Given the description of an element on the screen output the (x, y) to click on. 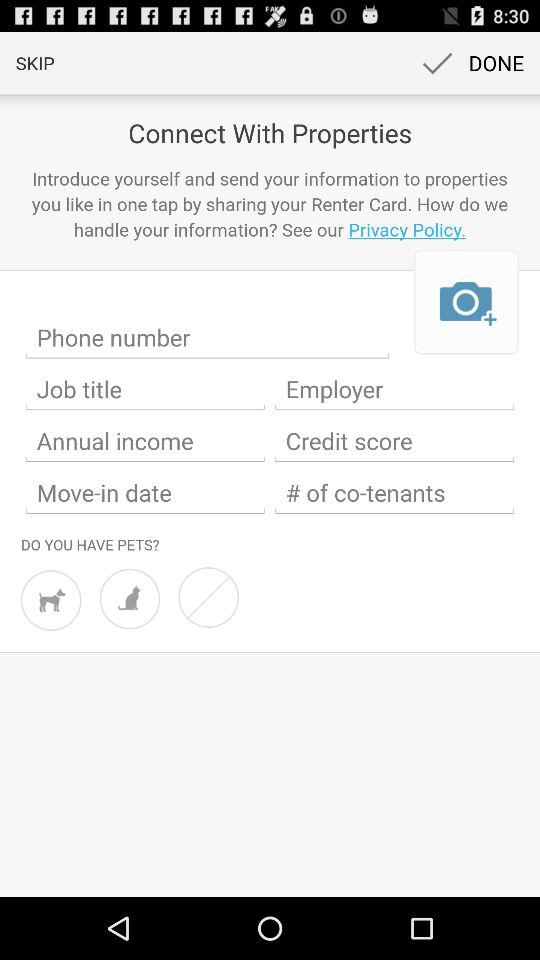
dog (51, 600)
